Given the description of an element on the screen output the (x, y) to click on. 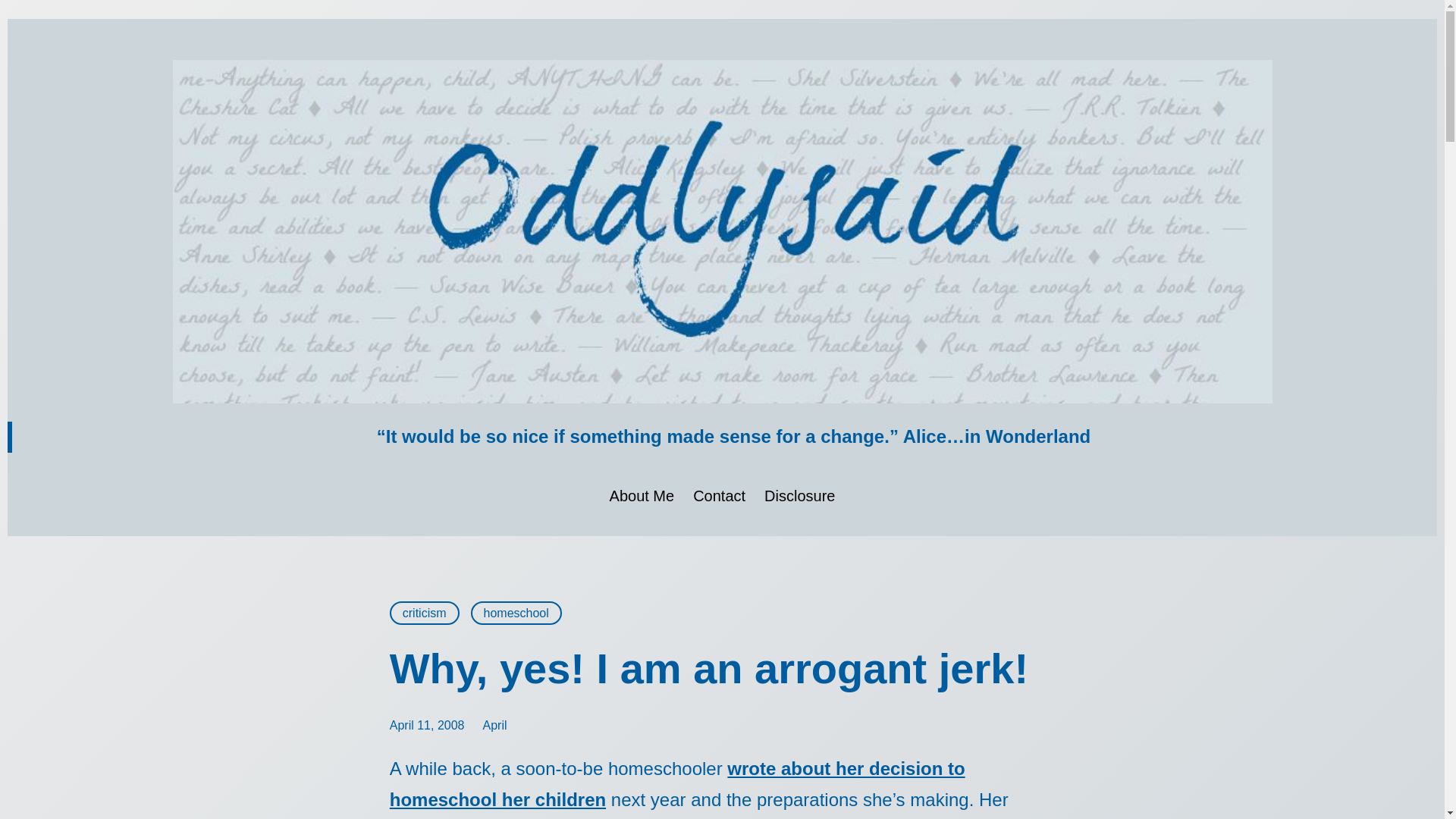
Disclosure (799, 495)
About Me (642, 495)
Contact (719, 495)
criticism (425, 612)
wrote about her decision to homeschool her children (677, 783)
homeschool (516, 612)
